Given the description of an element on the screen output the (x, y) to click on. 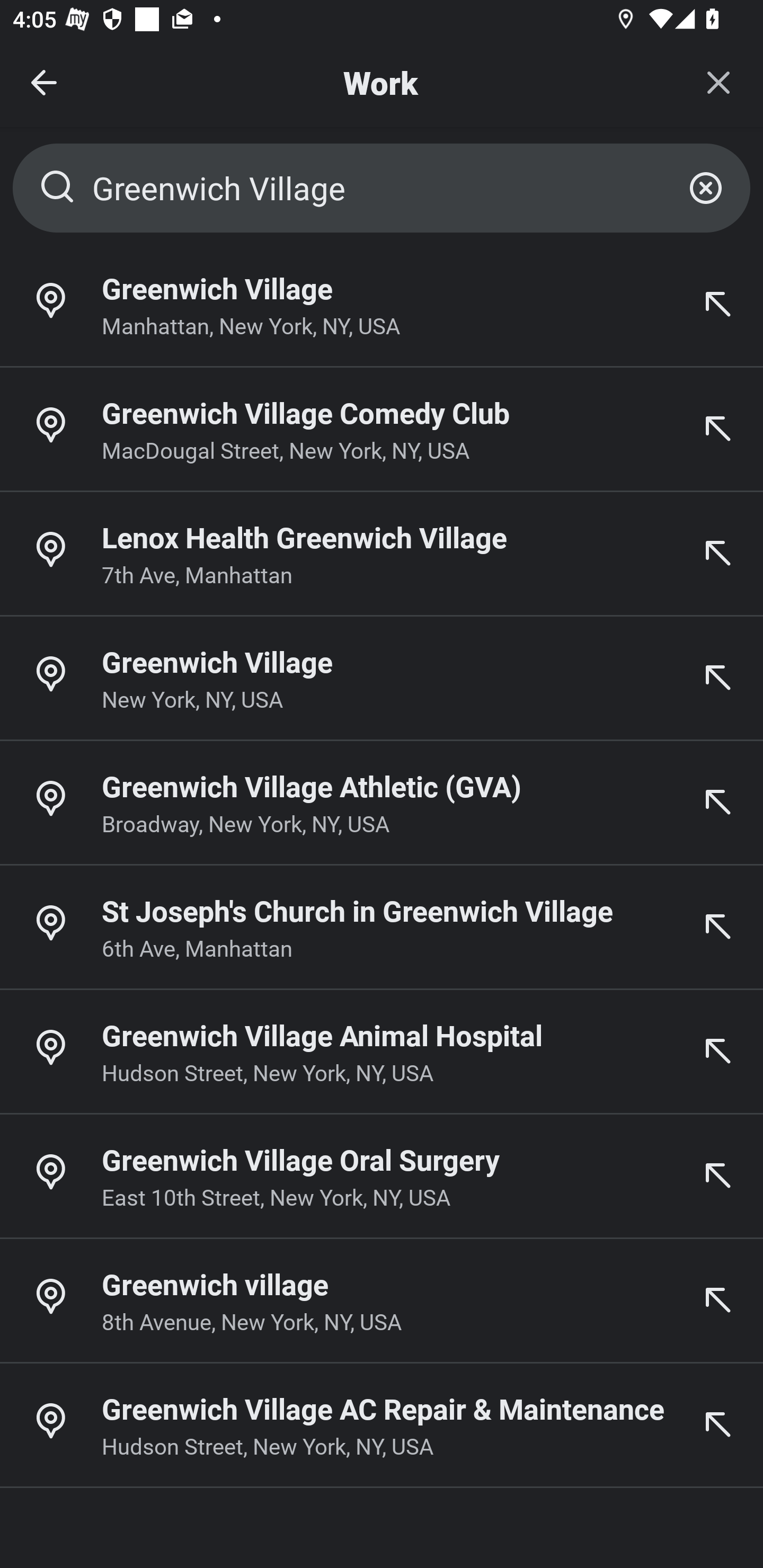
Greenwich Village (381, 188)
